Given the description of an element on the screen output the (x, y) to click on. 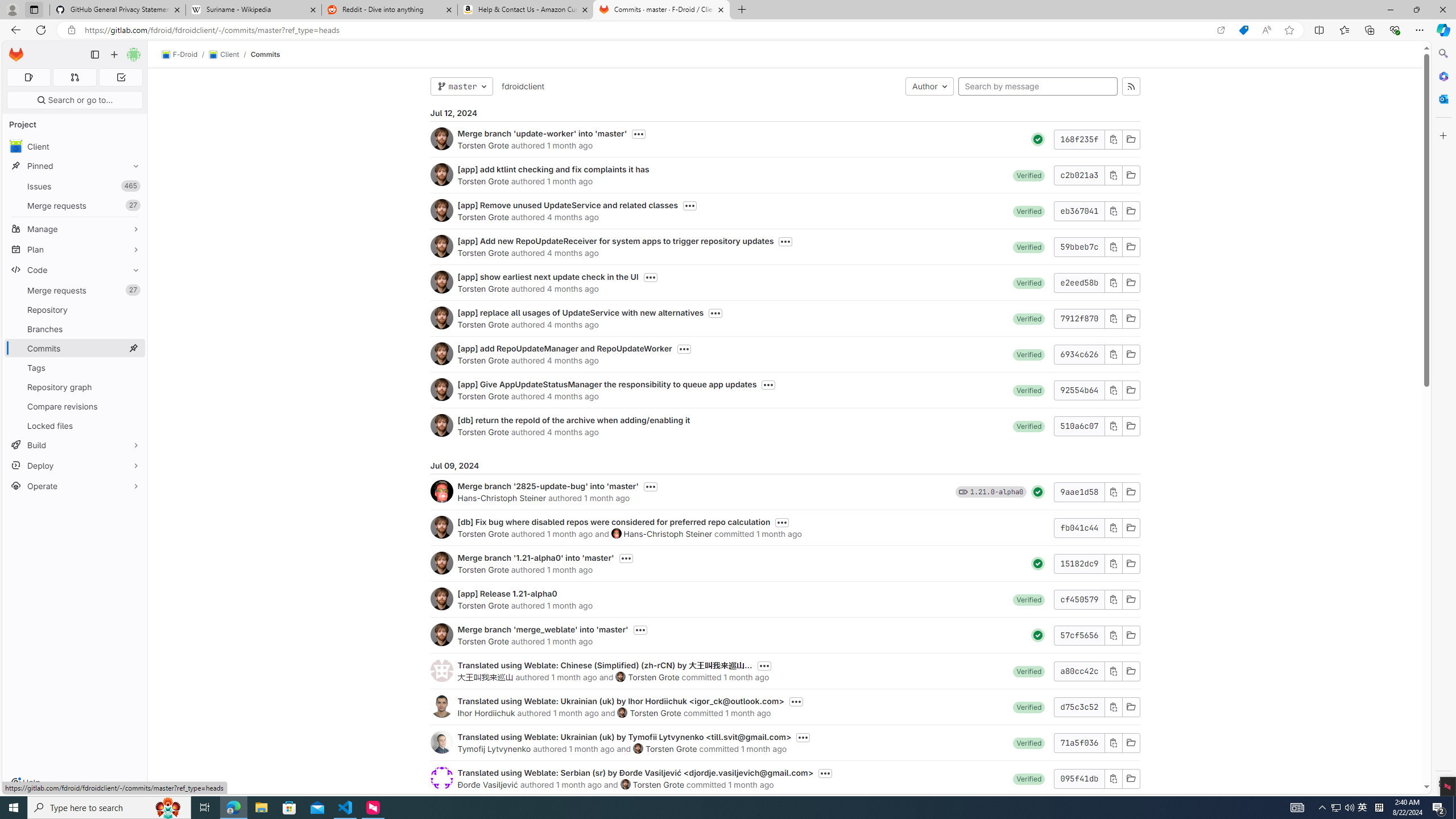
Browse Files (1130, 778)
Repository (74, 309)
Ihor Hordiichuk's avatar (440, 706)
Deploy (74, 465)
Pin Repository (132, 309)
[app] Release 1.21-alpha0 (507, 593)
Homepage (16, 54)
Client (74, 145)
Merge branch '2825-update-bug' into 'master' (548, 485)
